Given the description of an element on the screen output the (x, y) to click on. 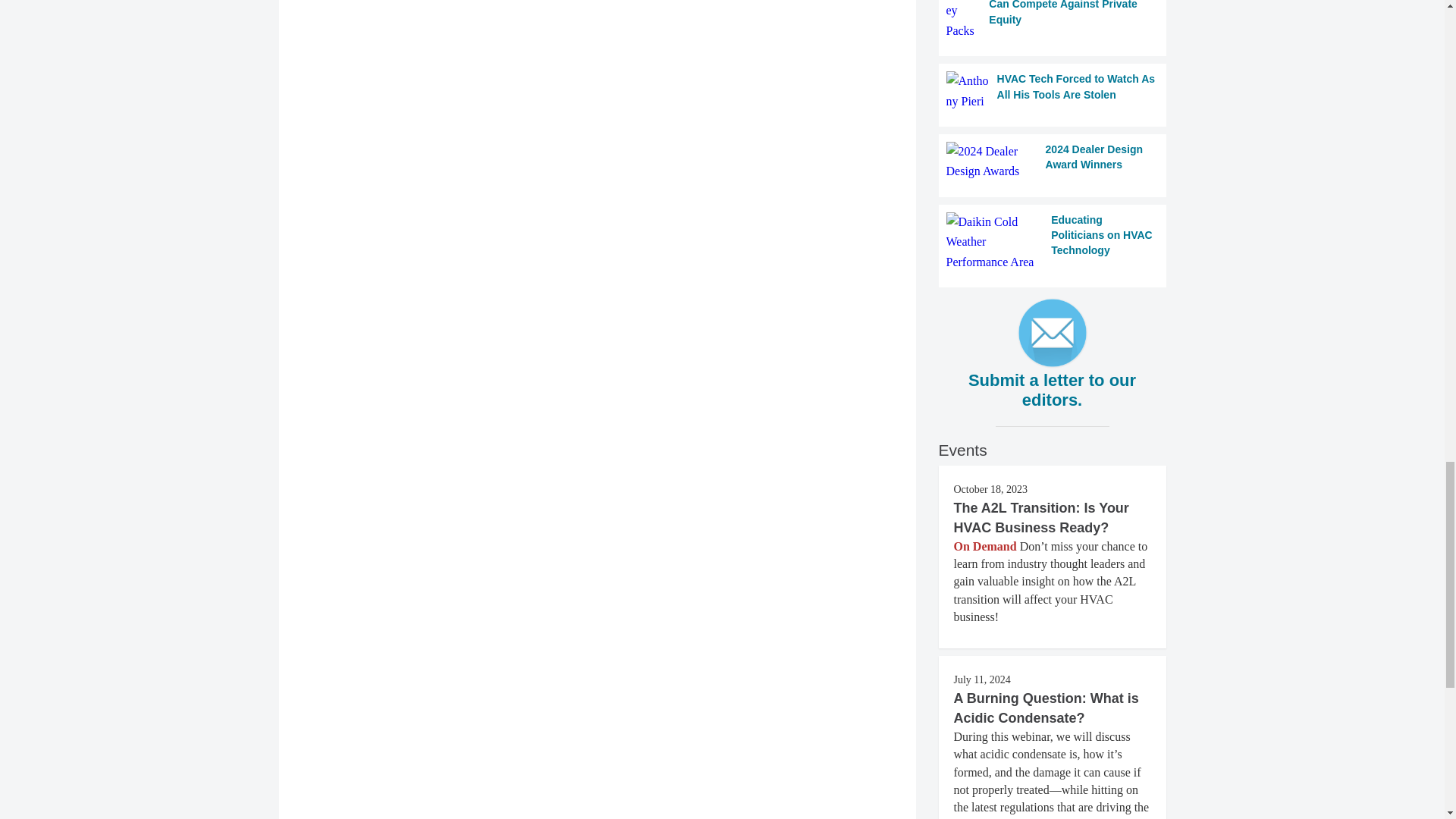
A Burning Question: What is Acidic Condensate? (1045, 708)
2024 Dealer Design Award Winners (1052, 161)
Educating Politicians on HVAC Technology (1052, 241)
The A2L Transition: Is Your HVAC Business Ready? (1041, 517)
HVAC Tech Forced to Watch As All His Tools Are Stolen (1052, 91)
